Given the description of an element on the screen output the (x, y) to click on. 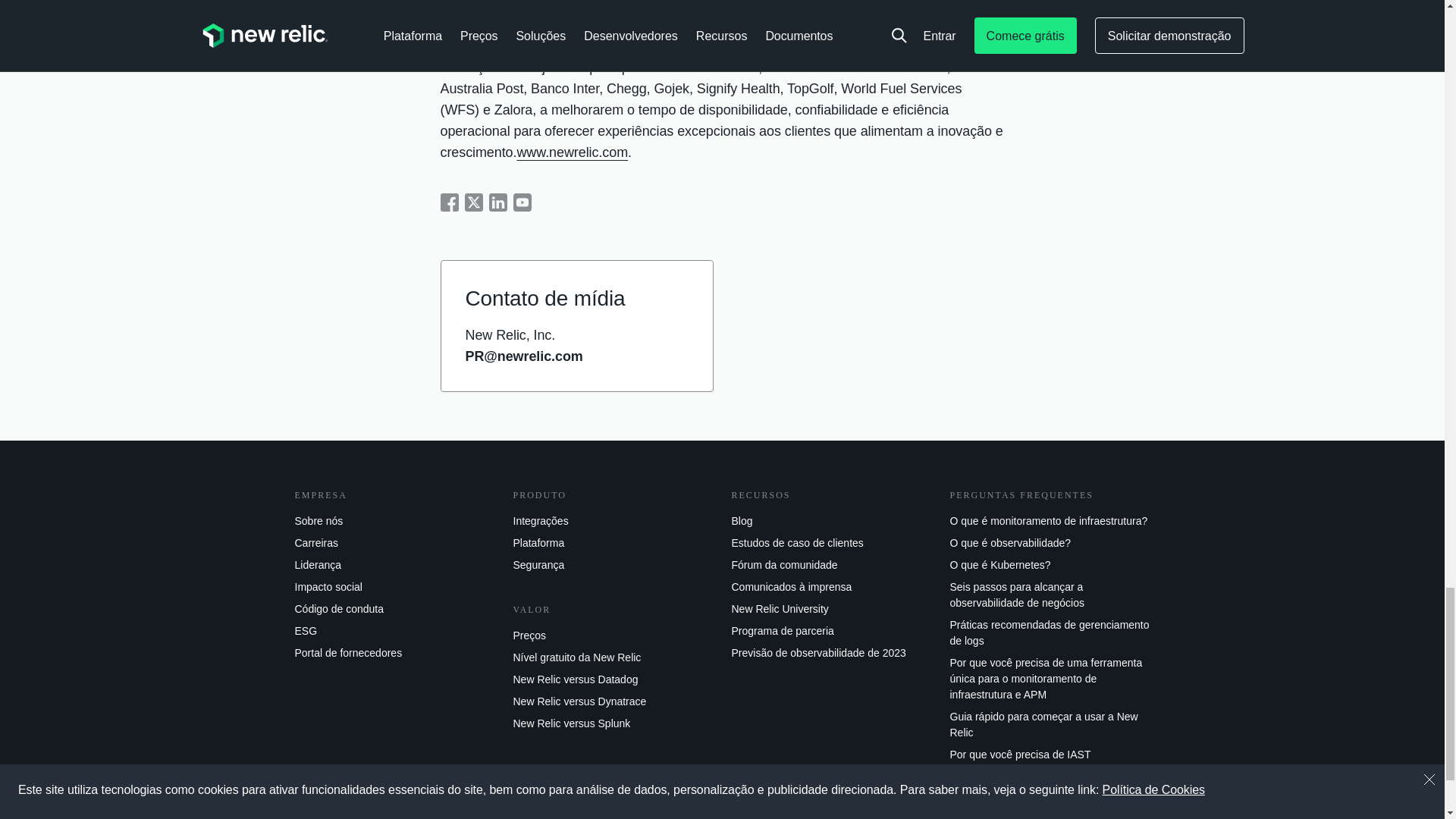
New Relic Logo (356, 809)
